Given the description of an element on the screen output the (x, y) to click on. 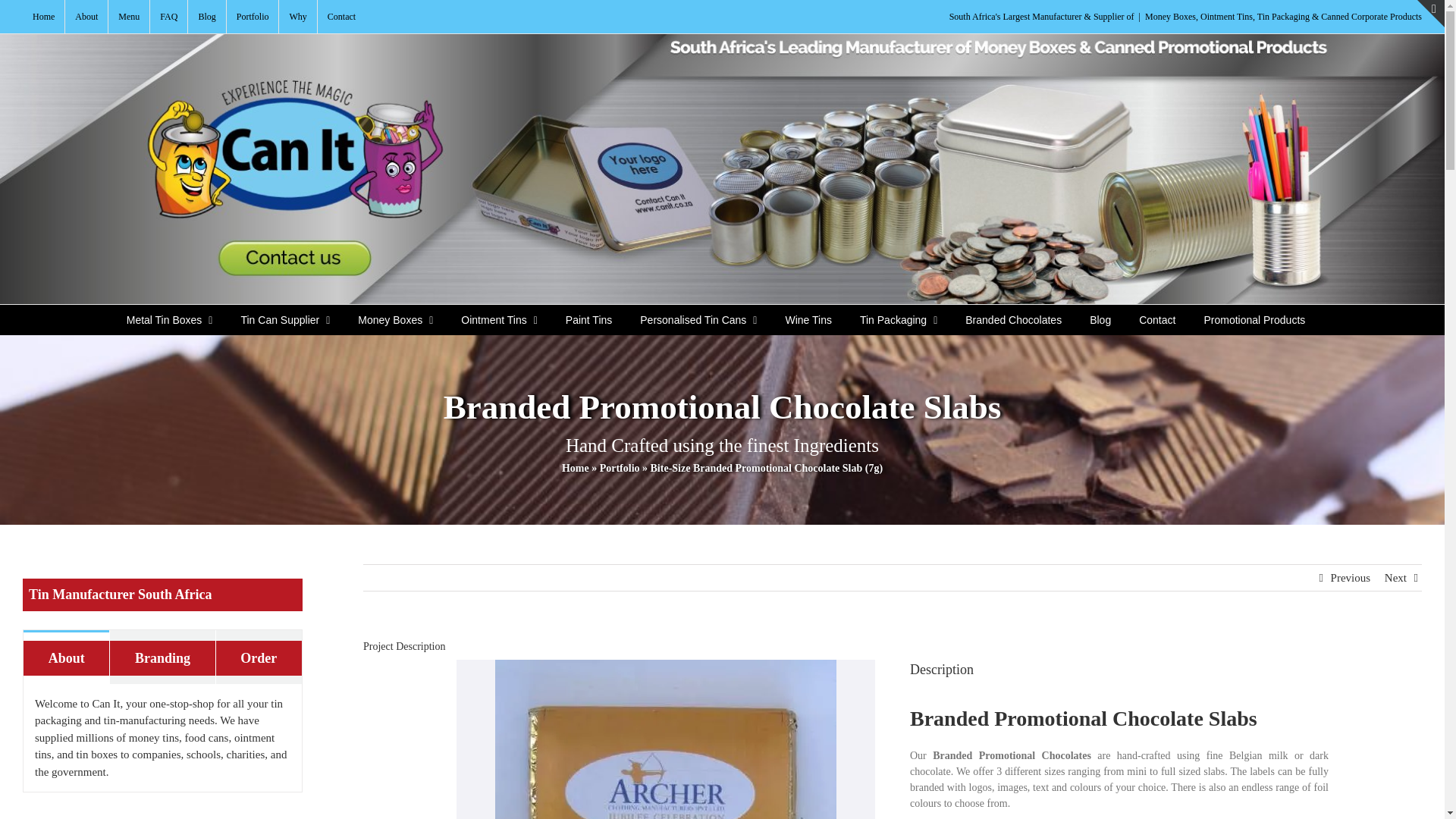
FAQ (168, 16)
Tin Can Supplier (284, 319)
Contact (341, 16)
Menu (128, 16)
Ointment Tins (498, 319)
Blog (206, 16)
Why (297, 16)
Portfolio (253, 16)
Metal Tin Boxes (170, 319)
About (86, 16)
Money Boxes (395, 319)
Home (43, 16)
